Given the description of an element on the screen output the (x, y) to click on. 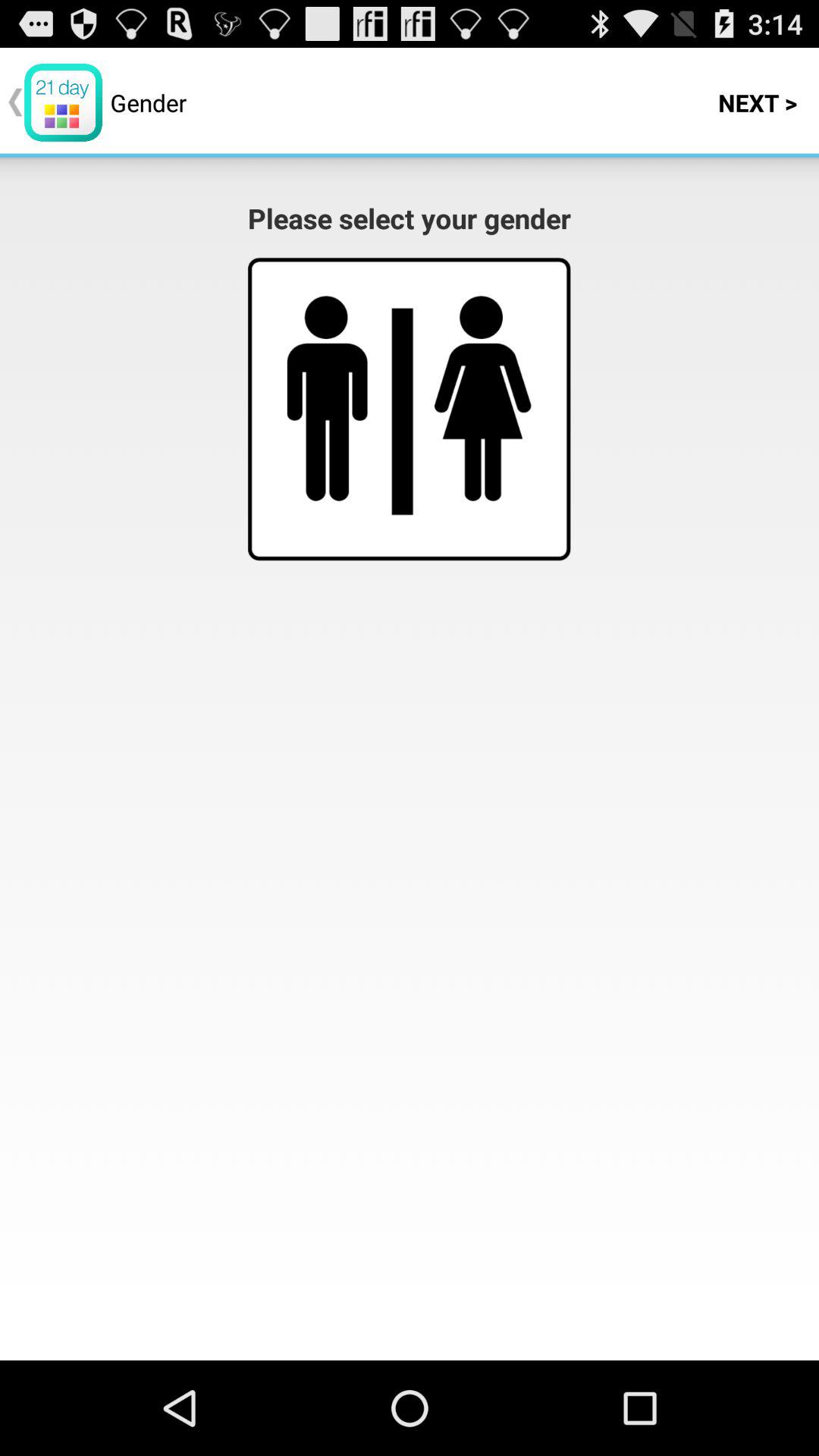
select female gender (482, 398)
